Given the description of an element on the screen output the (x, y) to click on. 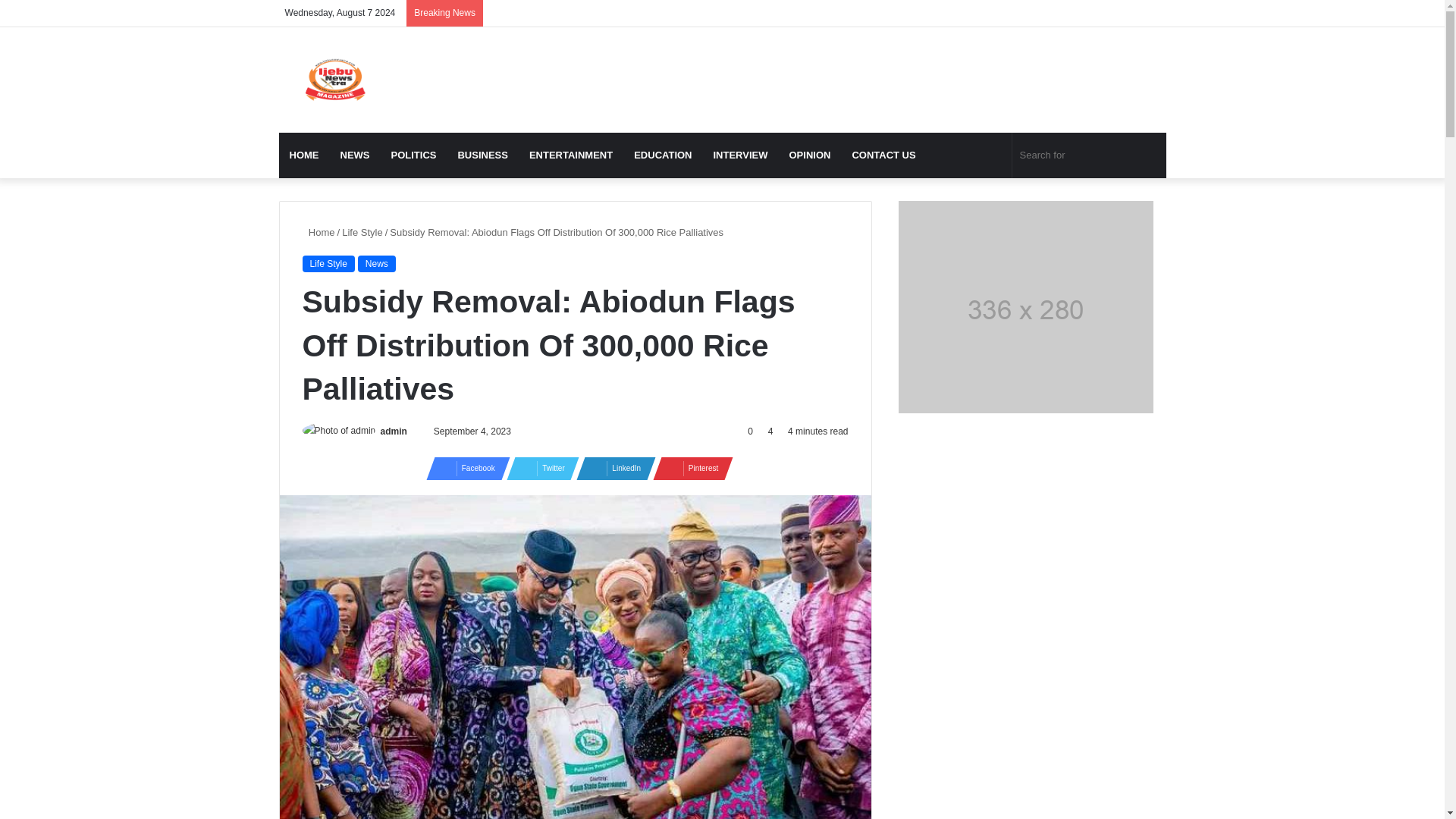
admin (393, 430)
Random Article (992, 155)
Random Article (992, 155)
HOME (304, 155)
YouTube (1063, 13)
Random Article (1131, 13)
Facebook (463, 468)
Life Style (327, 263)
INTERVIEW (739, 155)
ENTERTAINMENT (570, 155)
Search for (1088, 155)
Twitter (538, 468)
BUSINESS (482, 155)
